Given the description of an element on the screen output the (x, y) to click on. 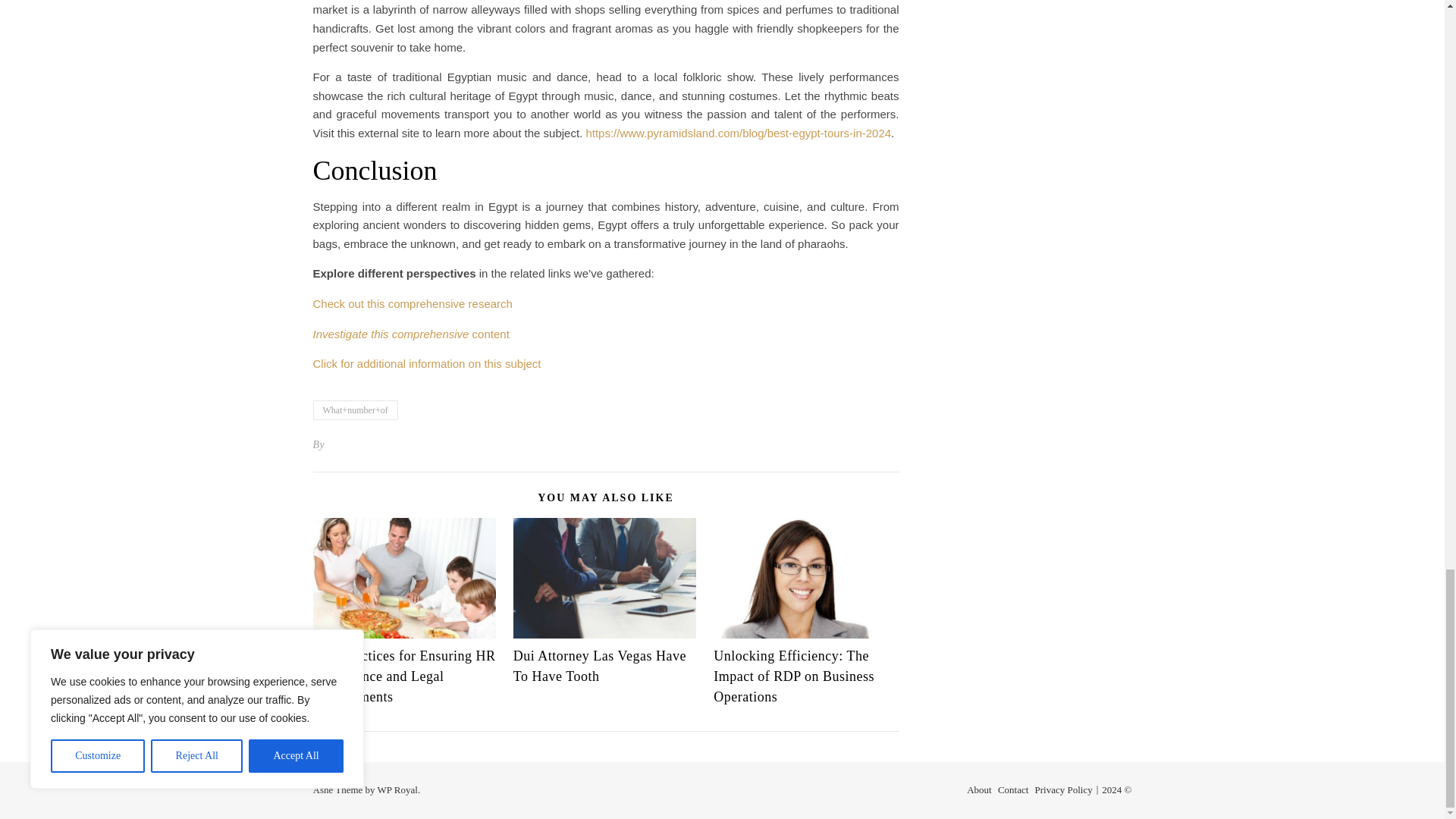
Dui Attorney Las Vegas Have To Have Tooth (599, 665)
Click for additional information on this subject (426, 363)
Investigate this comprehensive content (410, 333)
Check out this comprehensive research (412, 303)
